Given the description of an element on the screen output the (x, y) to click on. 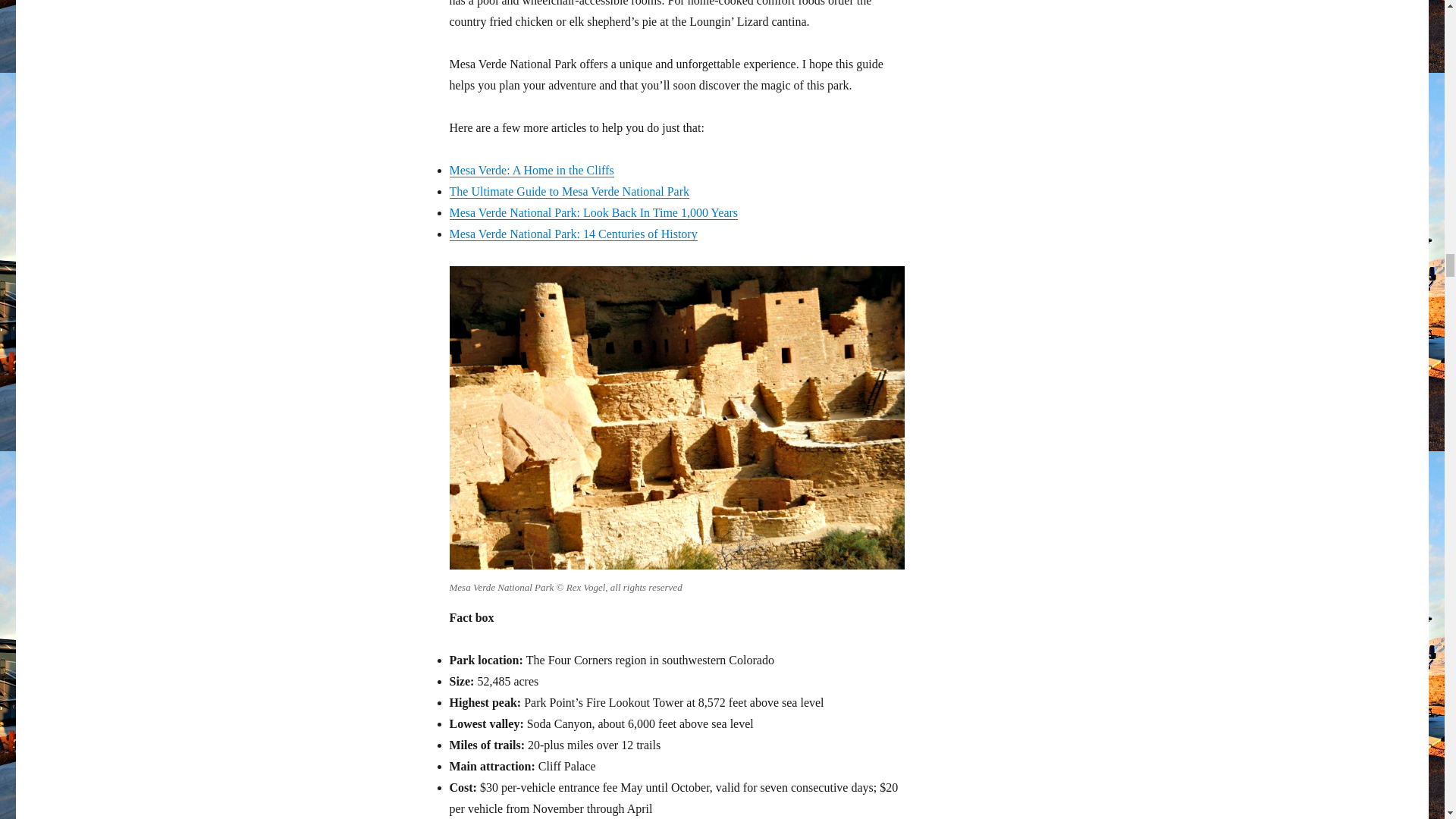
Mesa Verde National Park: Look Back In Time 1,000 Years (593, 212)
Mesa Verde National Park: 14 Centuries of History (572, 233)
The Ultimate Guide to Mesa Verde National Park (568, 191)
Mesa Verde: A Home in the Cliffs (530, 169)
